Given the description of an element on the screen output the (x, y) to click on. 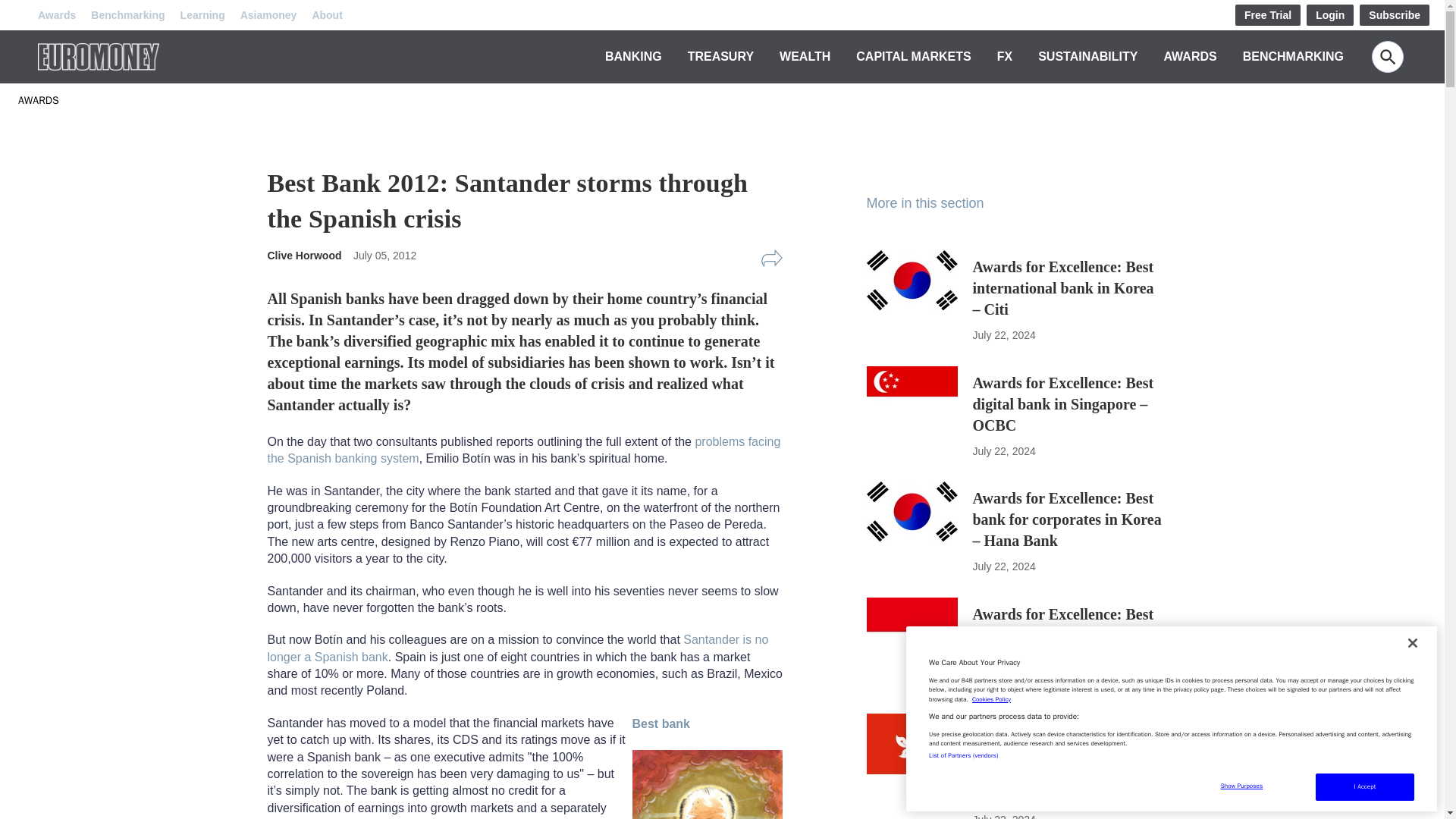
WEALTH (803, 56)
About (326, 14)
Subscribe (1394, 14)
TREASURY (720, 56)
Benchmarking (127, 14)
Free Trial (1267, 14)
Login (1329, 14)
CAPITAL MARKETS (913, 56)
Asiamoney (268, 14)
FX (1004, 56)
BENCHMARKING (1293, 56)
Learning (202, 14)
Show Search (1387, 56)
Share (771, 258)
Awards (56, 14)
